Given the description of an element on the screen output the (x, y) to click on. 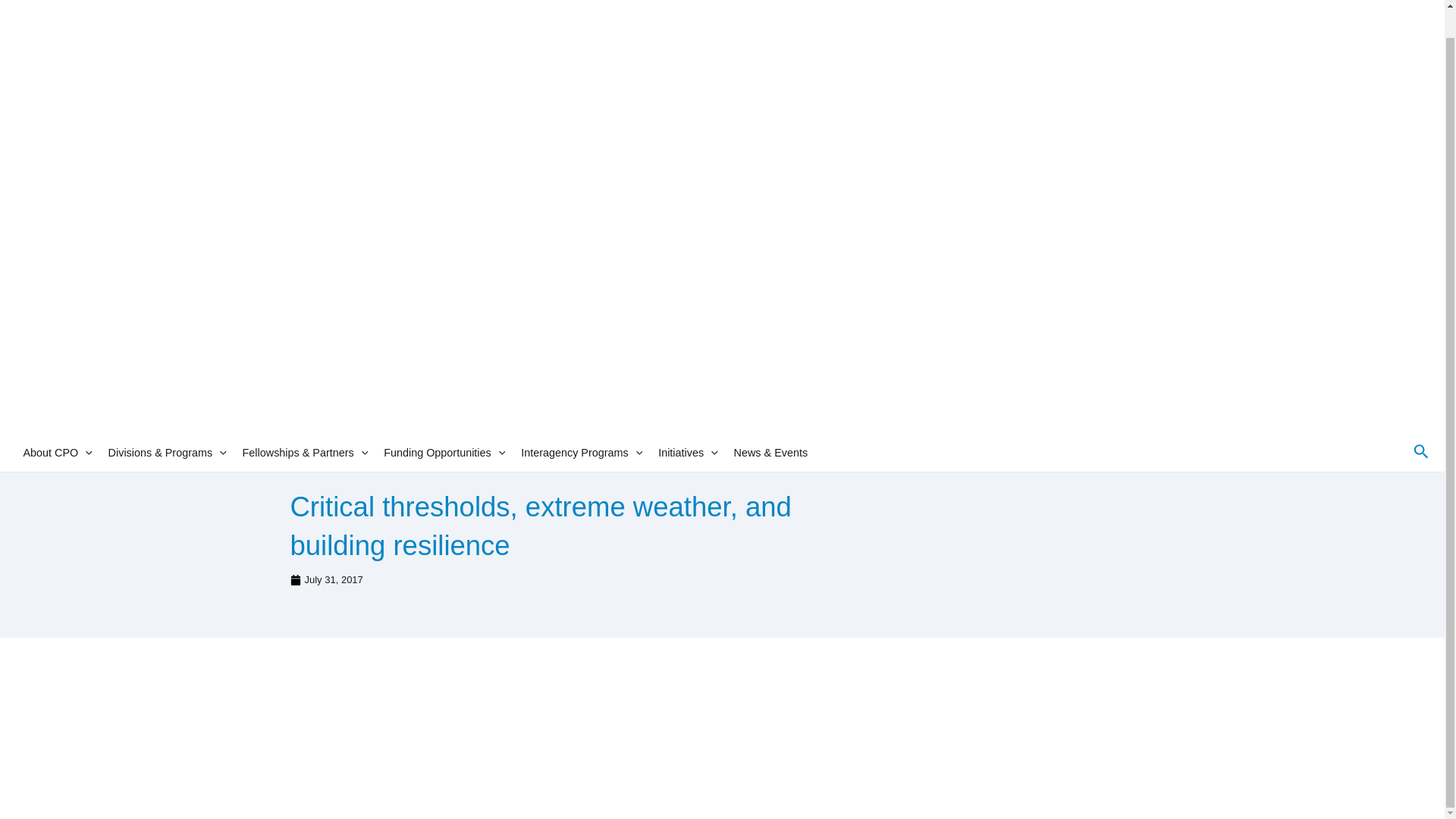
About CPO (57, 452)
